Given the description of an element on the screen output the (x, y) to click on. 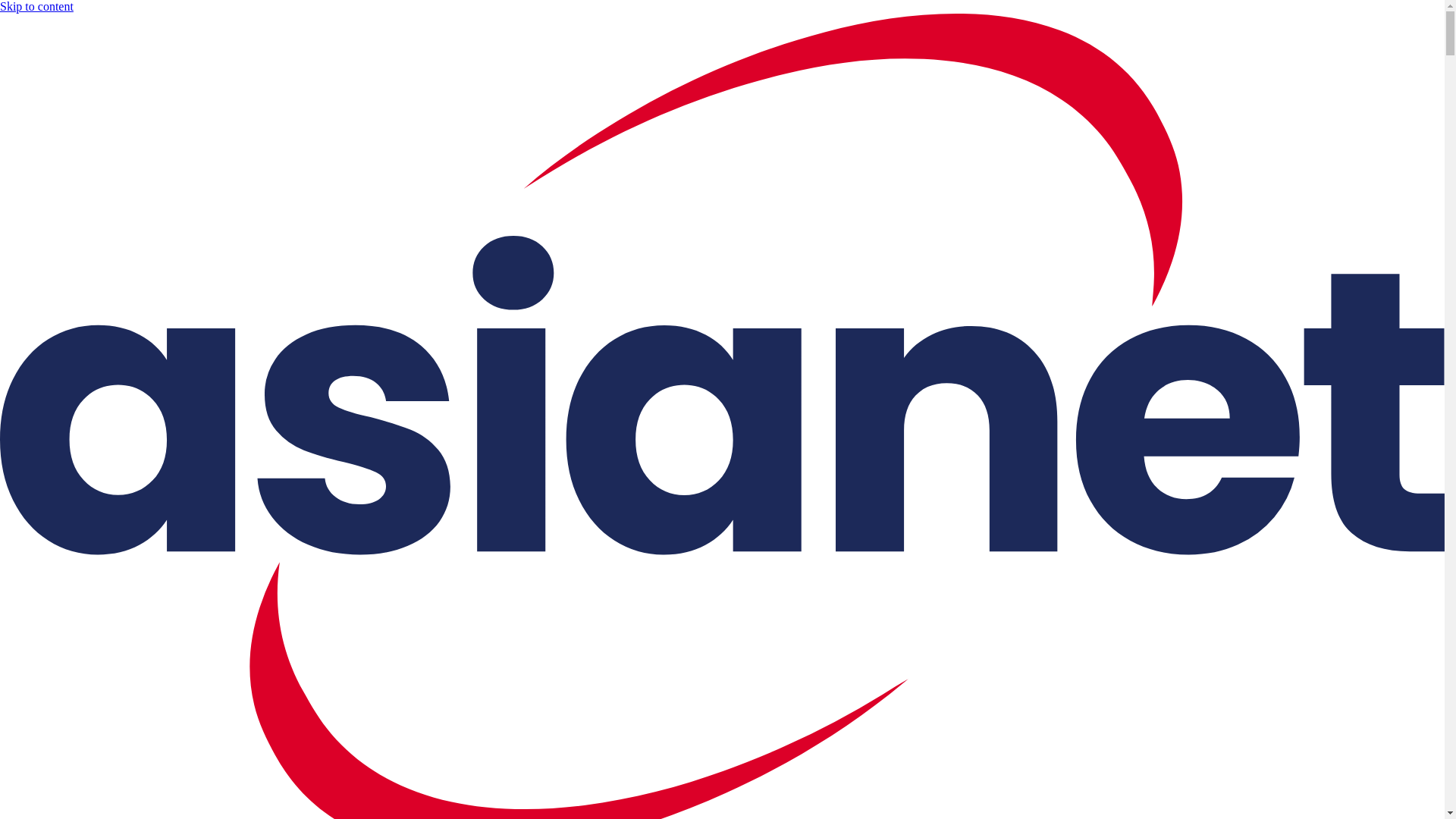
Skip to content (37, 6)
